Given the description of an element on the screen output the (x, y) to click on. 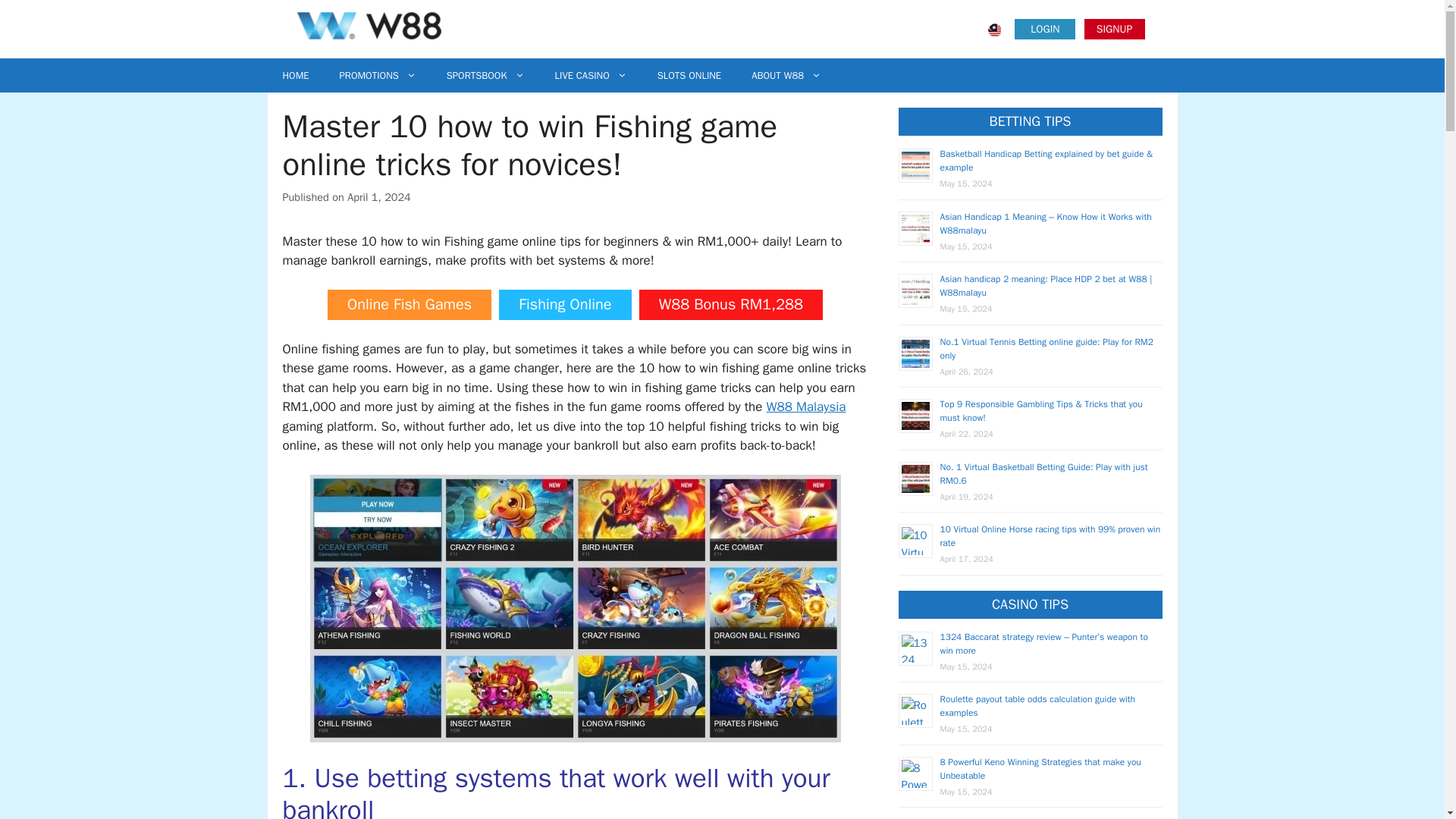
LIVE CASINO (591, 75)
SIGNUP (1114, 28)
Fishing Online (564, 304)
HOME (294, 75)
LOGIN (1044, 28)
ABOUT W88 (785, 75)
SLOTS ONLINE (689, 75)
W88 Bonus RM1,288 (730, 304)
SPORTSBOOK (485, 75)
PROMOTIONS (377, 75)
